Given the description of an element on the screen output the (x, y) to click on. 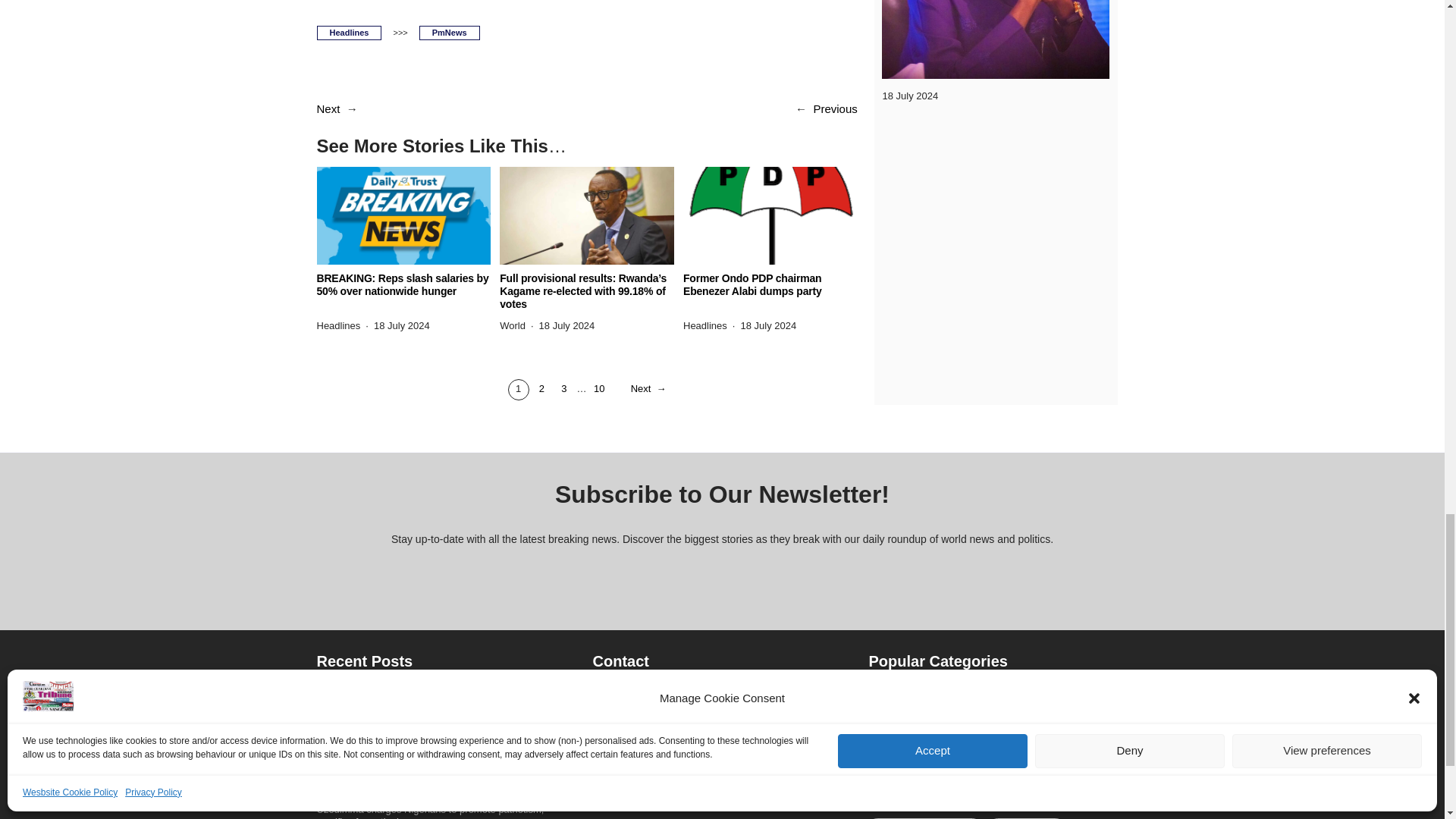
PmNews (449, 32)
Headlines (349, 32)
Previous (834, 108)
Former Ondo PDP chairman Ebenezer Alabi dumps party (769, 284)
Next (328, 108)
World (512, 325)
Headlines (339, 325)
